Given the description of an element on the screen output the (x, y) to click on. 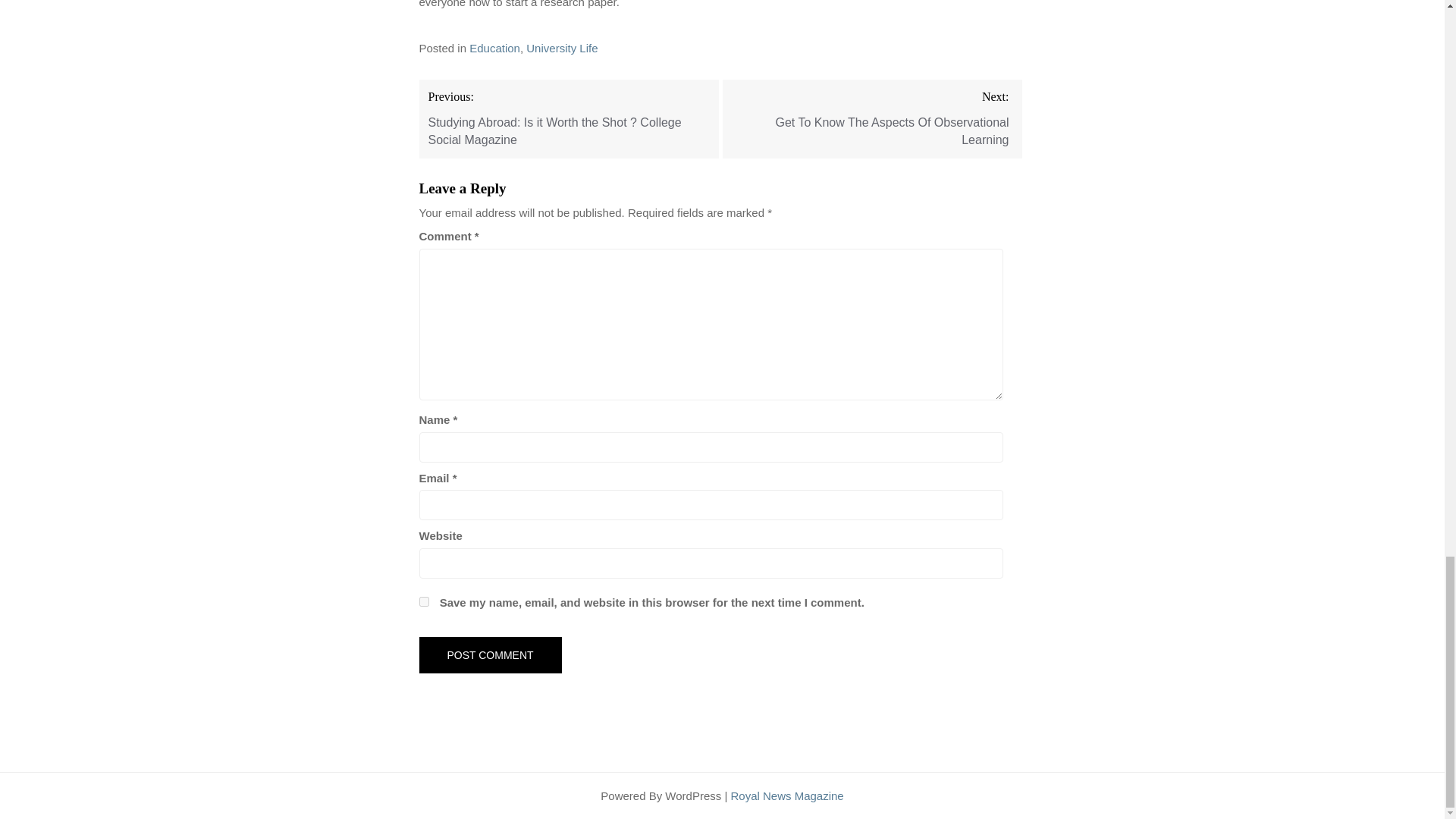
Post Comment (489, 655)
Post Comment (489, 655)
Education (493, 47)
University Life (560, 47)
Royal News Magazine (786, 795)
yes (423, 601)
Next: Get To Know The Aspects Of Observational Learning (872, 118)
